Given the description of an element on the screen output the (x, y) to click on. 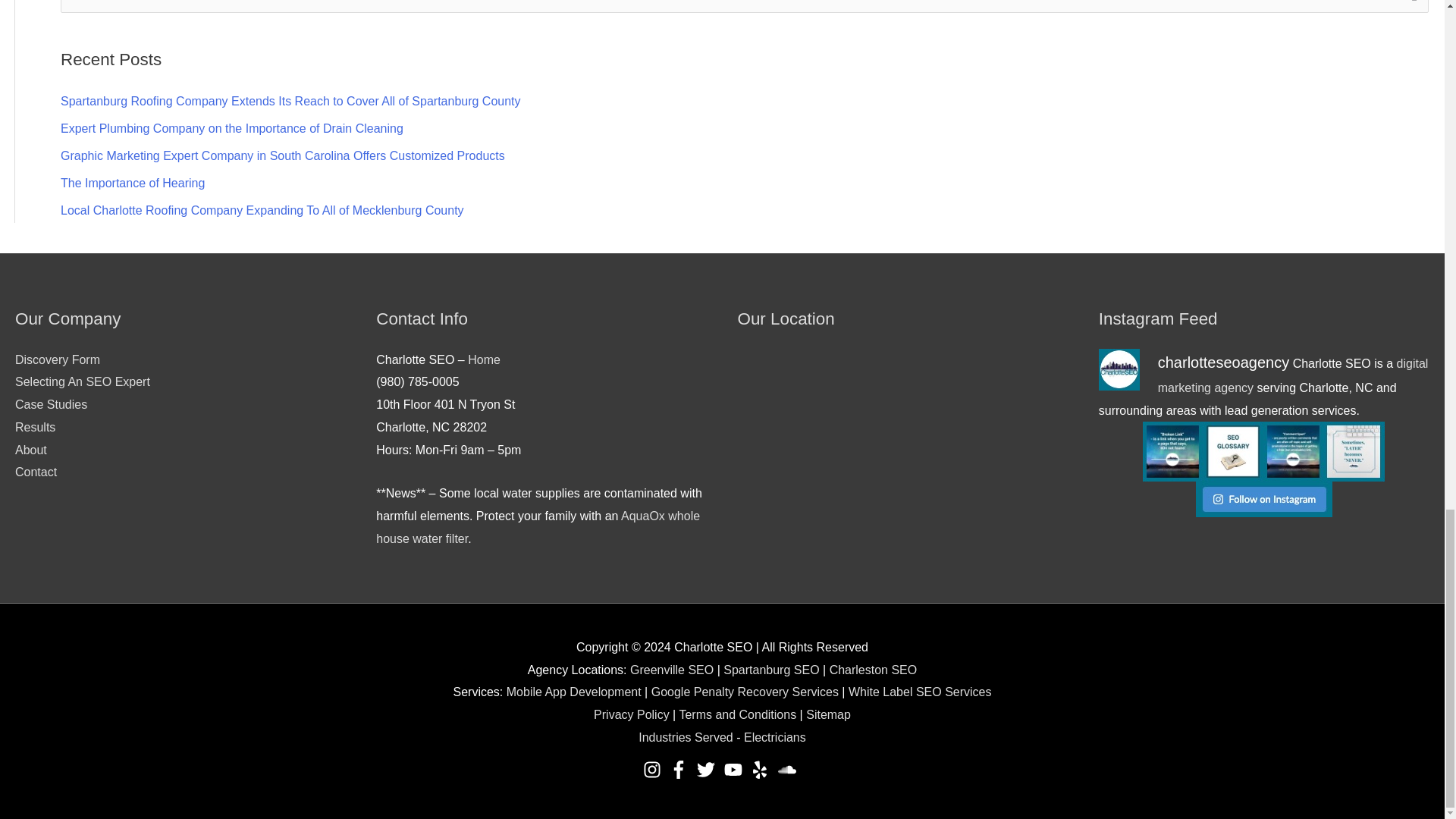
About (30, 449)
Search (1411, 11)
Greenville SEO (671, 669)
Results (34, 427)
Selecting An SEO Expert (81, 381)
Expert Plumbing Company on the Importance of Drain Cleaning (232, 128)
AquaOx whole house water filter (537, 527)
Spartanburg SEO (770, 669)
Search (1411, 11)
